Given the description of an element on the screen output the (x, y) to click on. 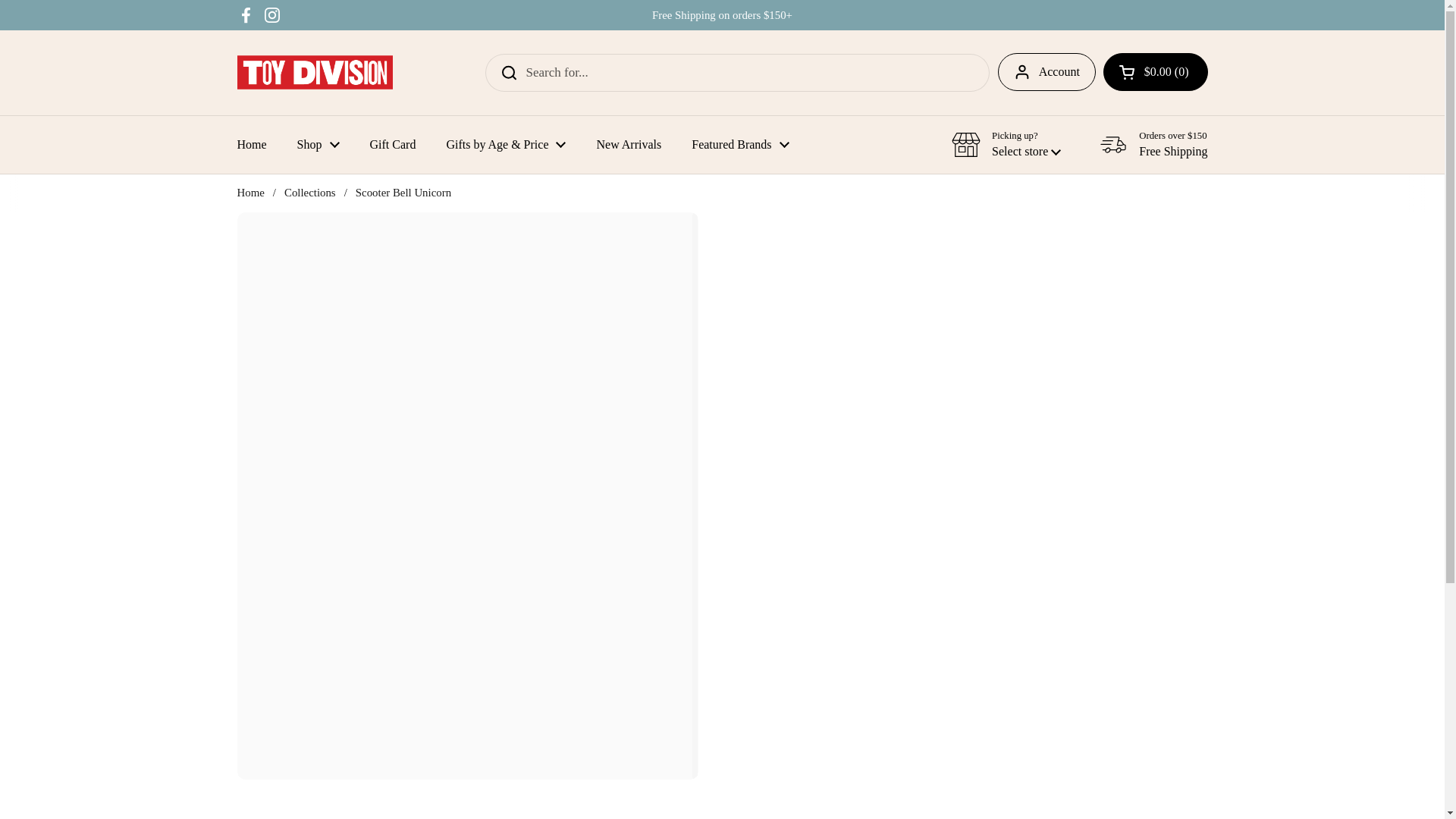
Shop (318, 144)
Home (251, 144)
Toy Division (314, 72)
Facebook (244, 14)
Home (251, 144)
Instagram (271, 14)
Open cart (1155, 71)
Account (1046, 71)
Shop (318, 144)
